Given the description of an element on the screen output the (x, y) to click on. 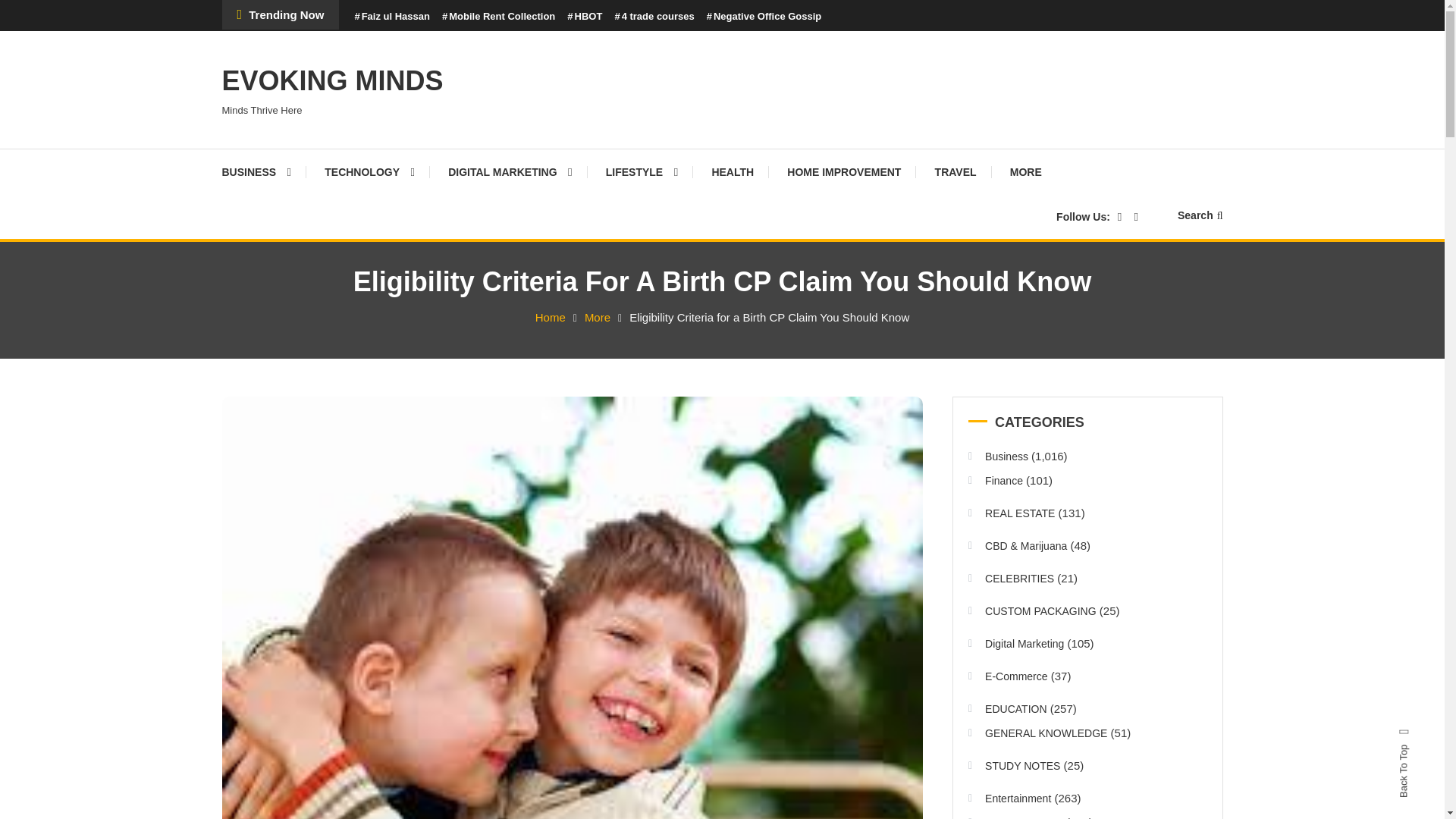
TRAVEL (955, 171)
4 trade courses (654, 16)
Faiz ul Hassan (391, 16)
HOME IMPROVEMENT (843, 171)
More (597, 317)
DIGITAL MARKETING (509, 171)
Home (550, 317)
LIFESTYLE (642, 171)
HBOT (584, 16)
EVOKING MINDS (331, 80)
